Given the description of an element on the screen output the (x, y) to click on. 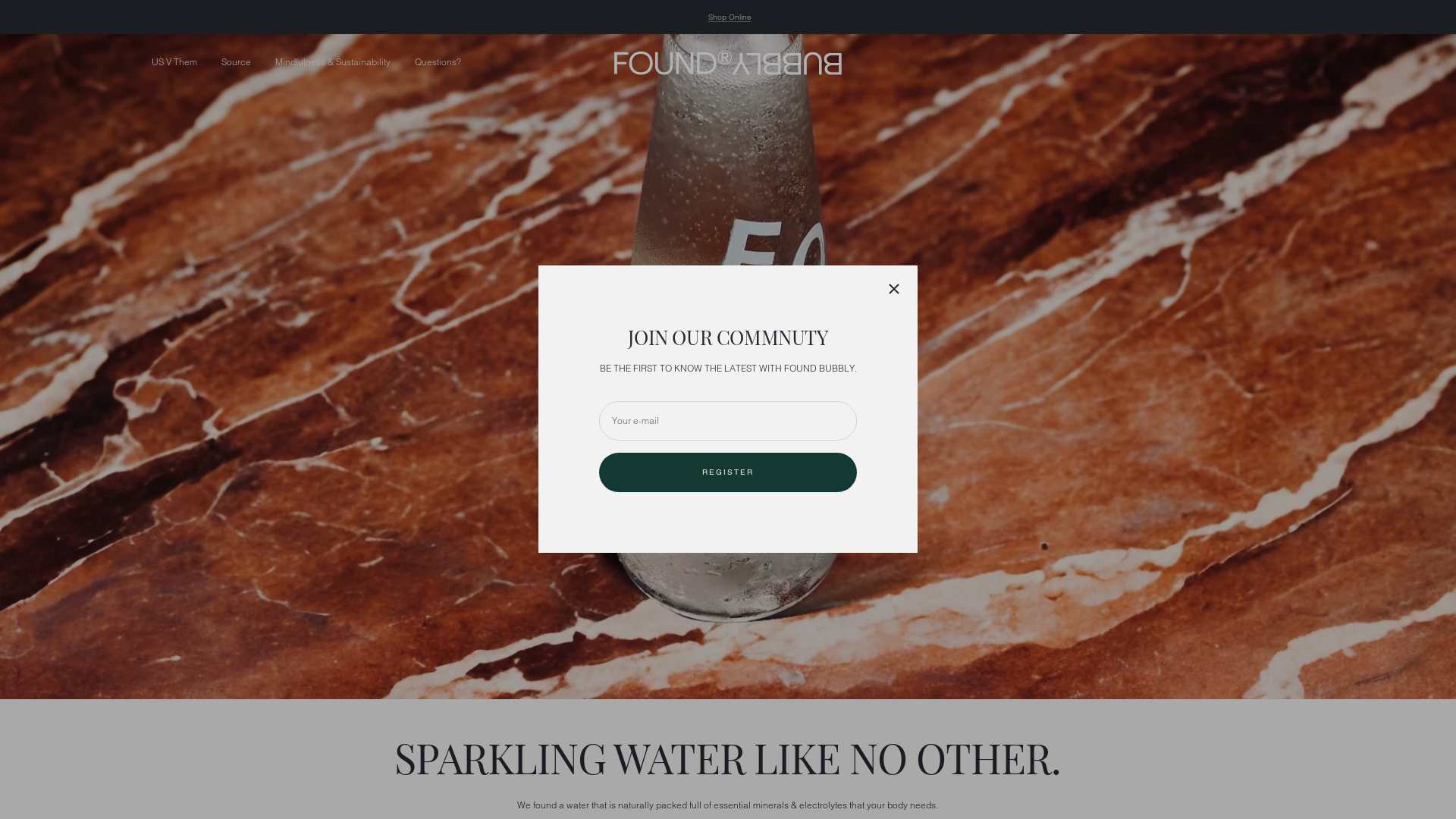
Questions? Element type: text (437, 62)
US V Them Element type: text (174, 62)
Close Element type: hover (893, 288)
Source Element type: text (236, 62)
REGISTER Element type: text (727, 472)
Mindfulness & Sustainability Element type: text (332, 62)
Found Bubbly Element type: text (727, 62)
Shop Online Element type: text (729, 16)
